Given the description of an element on the screen output the (x, y) to click on. 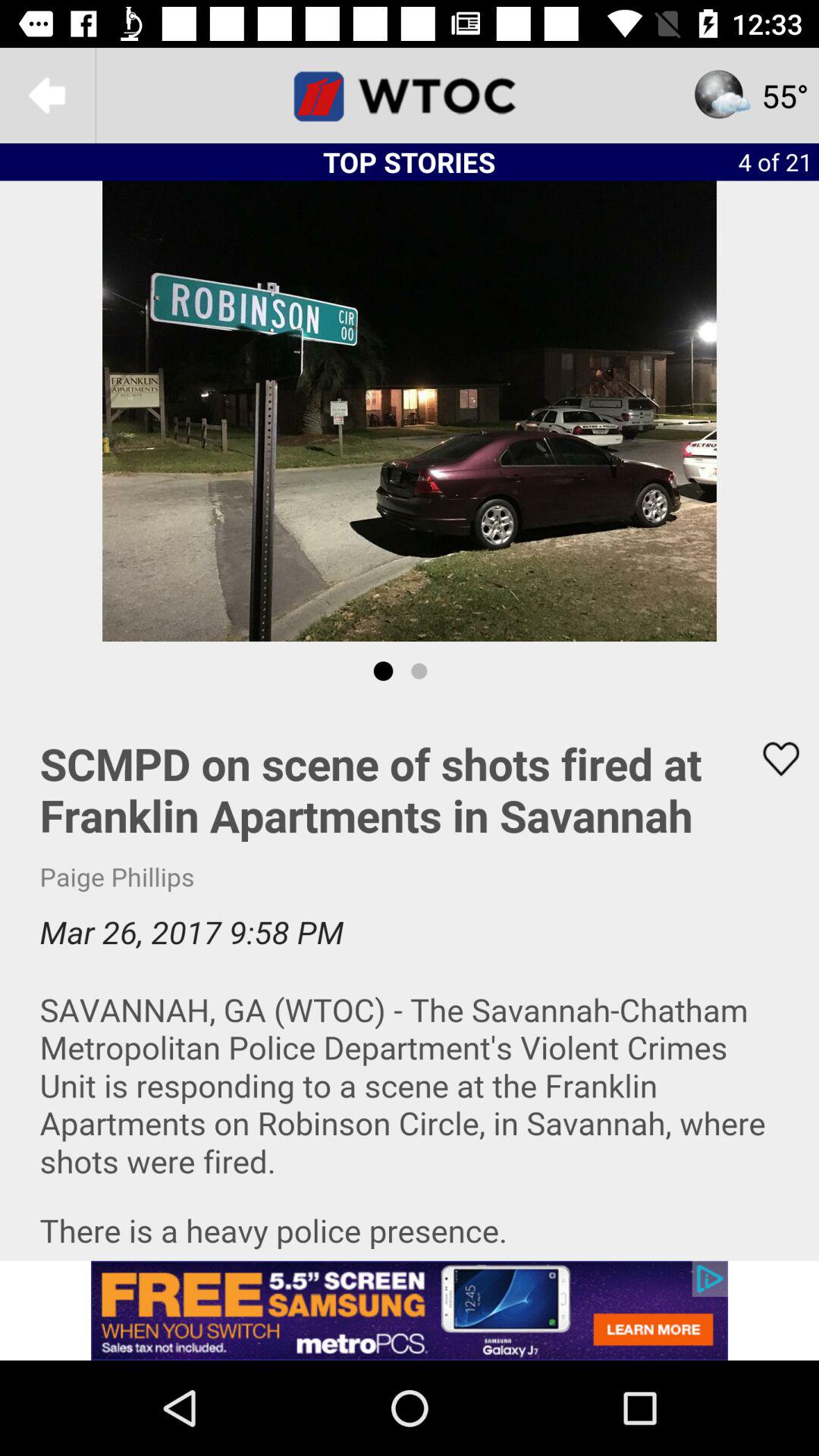
go to website (409, 95)
